Given the description of an element on the screen output the (x, y) to click on. 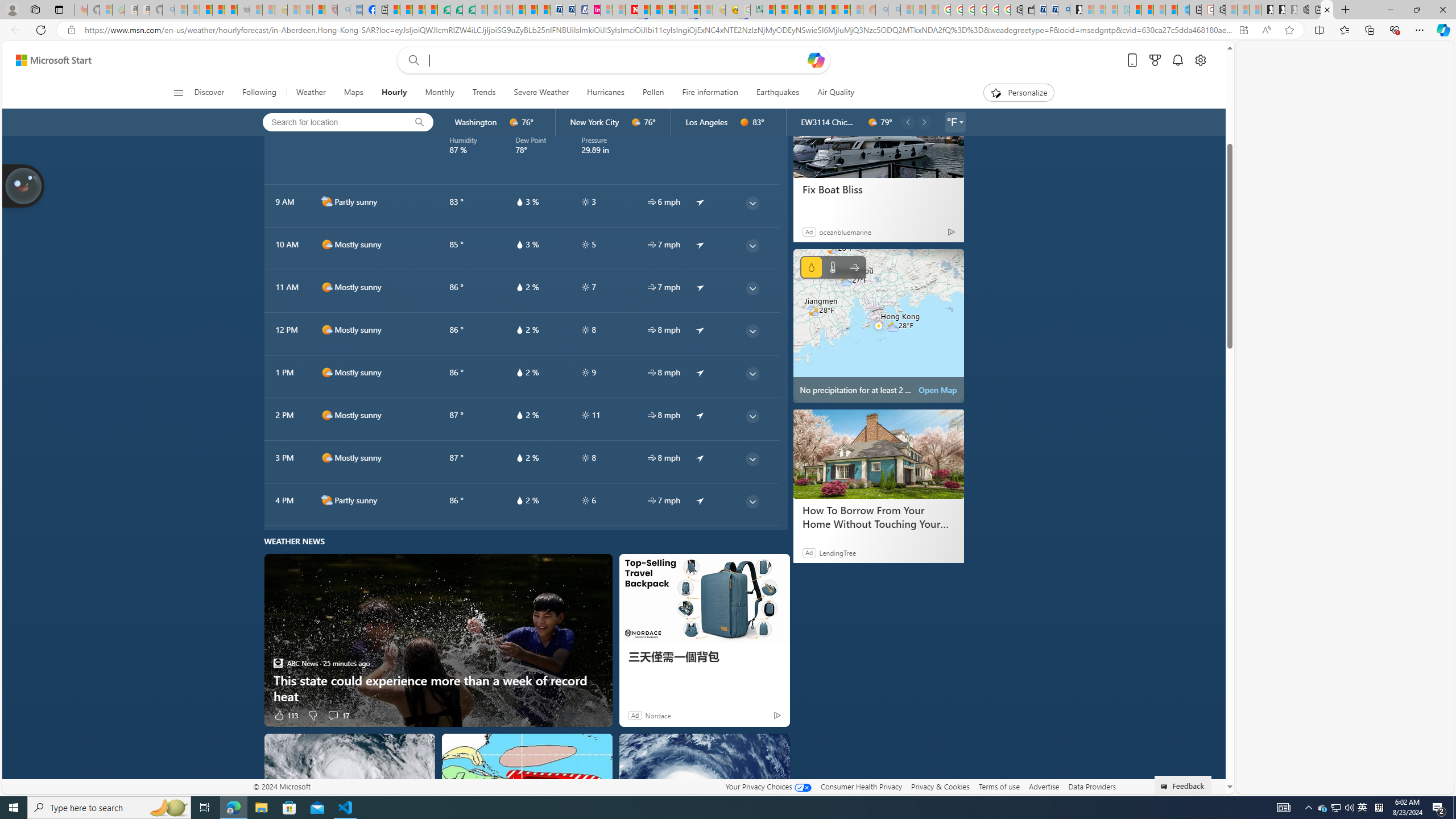
This state could experience more than a week of record heat (437, 688)
Cheap Hotels - Save70.com (568, 9)
Class: miniMapRadarSVGView-DS-EntryPoint1-1 (878, 325)
Bing Real Estate - Home sales and rental listings (1063, 9)
Terms of Use Agreement (456, 9)
